Given the description of an element on the screen output the (x, y) to click on. 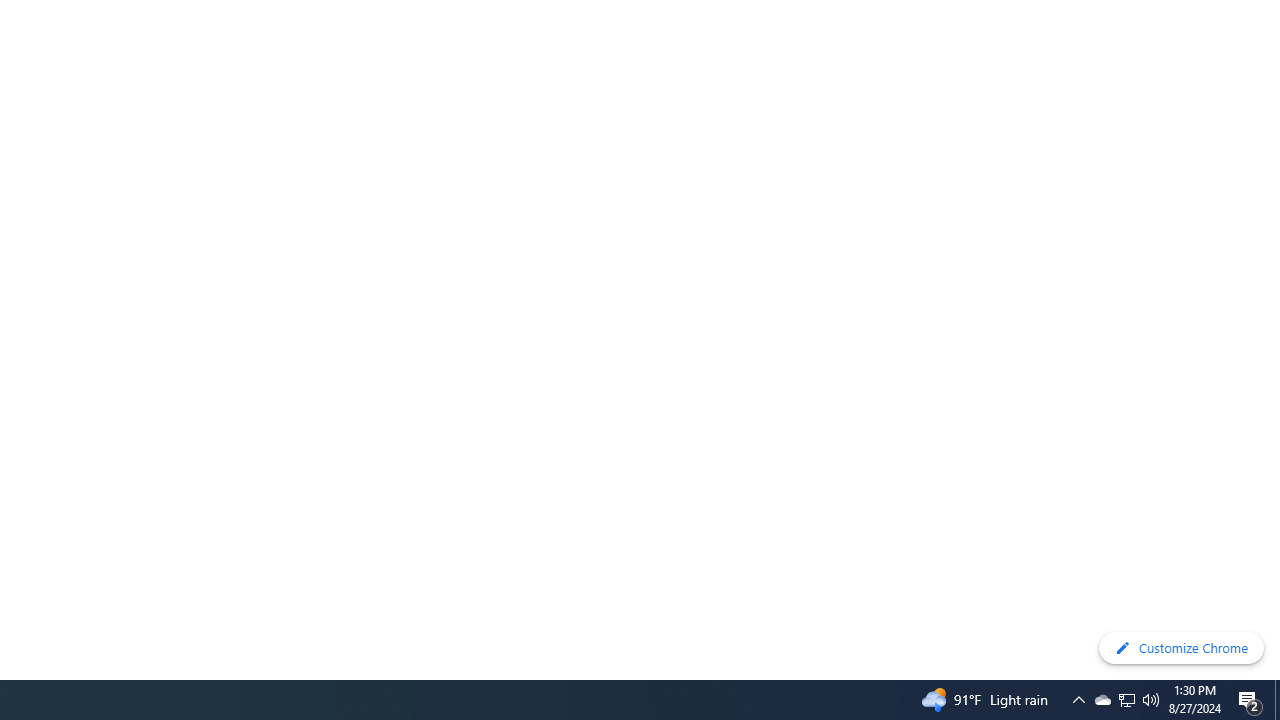
Customize Chrome (1181, 647)
